Given the description of an element on the screen output the (x, y) to click on. 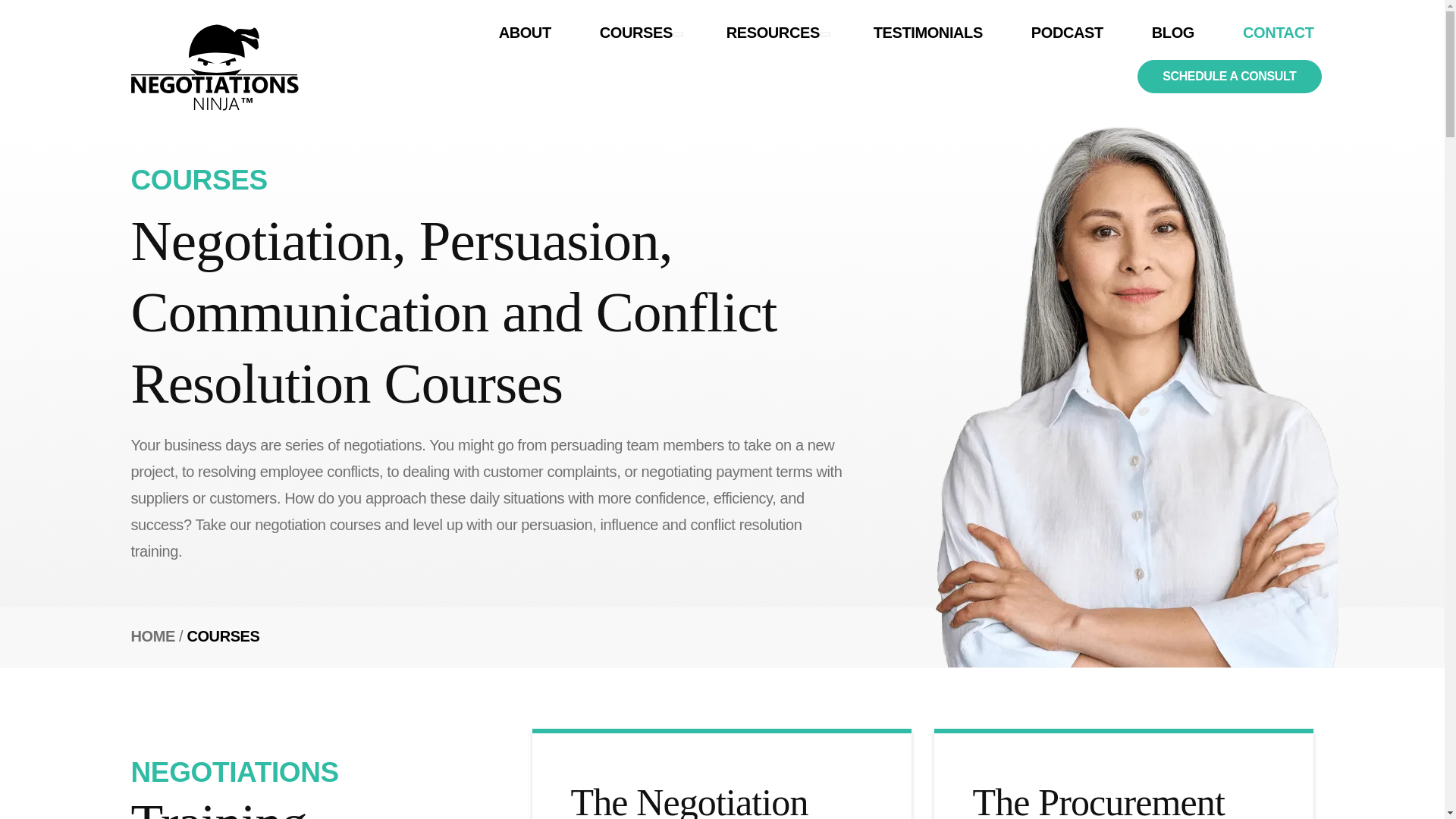
BLOG (1172, 32)
TESTIMONIALS (927, 32)
RESOURCES (775, 32)
COURSES (638, 32)
ABOUT (525, 32)
CONTACT (1278, 32)
PODCAST (1066, 32)
